Given the description of an element on the screen output the (x, y) to click on. 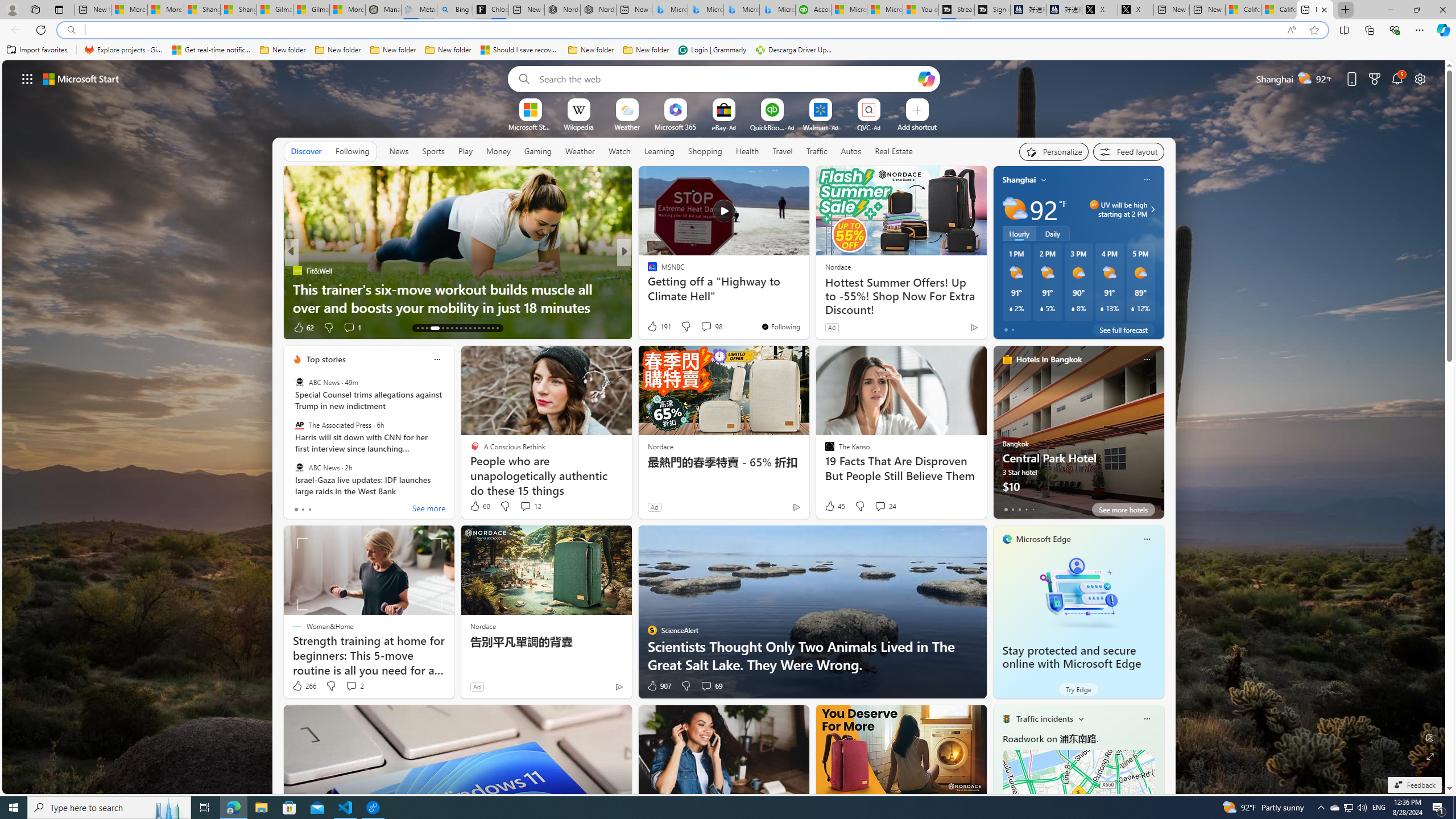
AutomationID: tab-25 (478, 328)
15 Bad Hygiene Habits That Could Actually Make You Sick (807, 298)
Shanghai (1018, 179)
Top stories (325, 359)
AutomationID: tab-26 (483, 328)
